Given the description of an element on the screen output the (x, y) to click on. 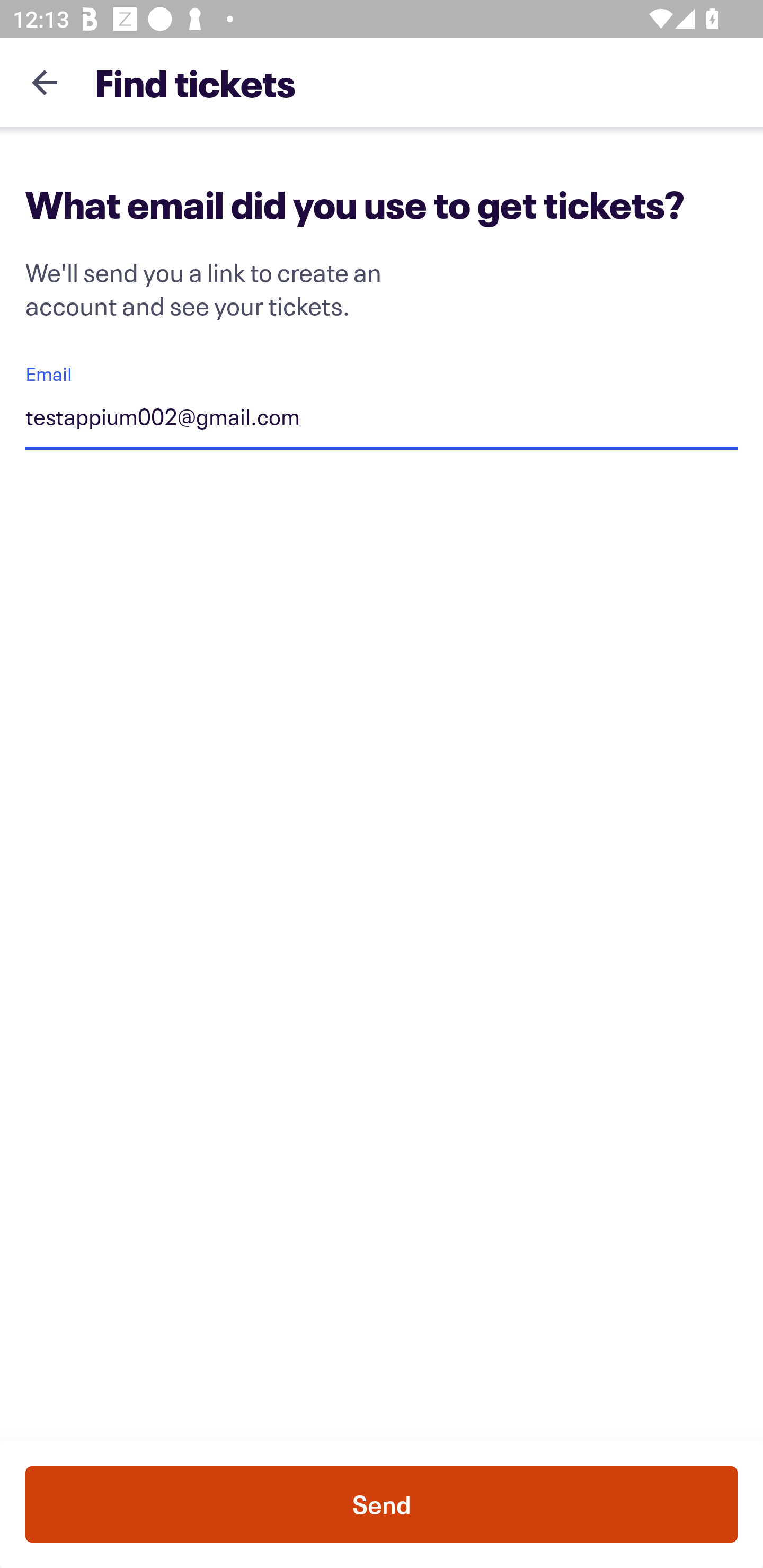
Navigate up (44, 82)
testappium002@gmail.com (381, 419)
Send (381, 1504)
